Given the description of an element on the screen output the (x, y) to click on. 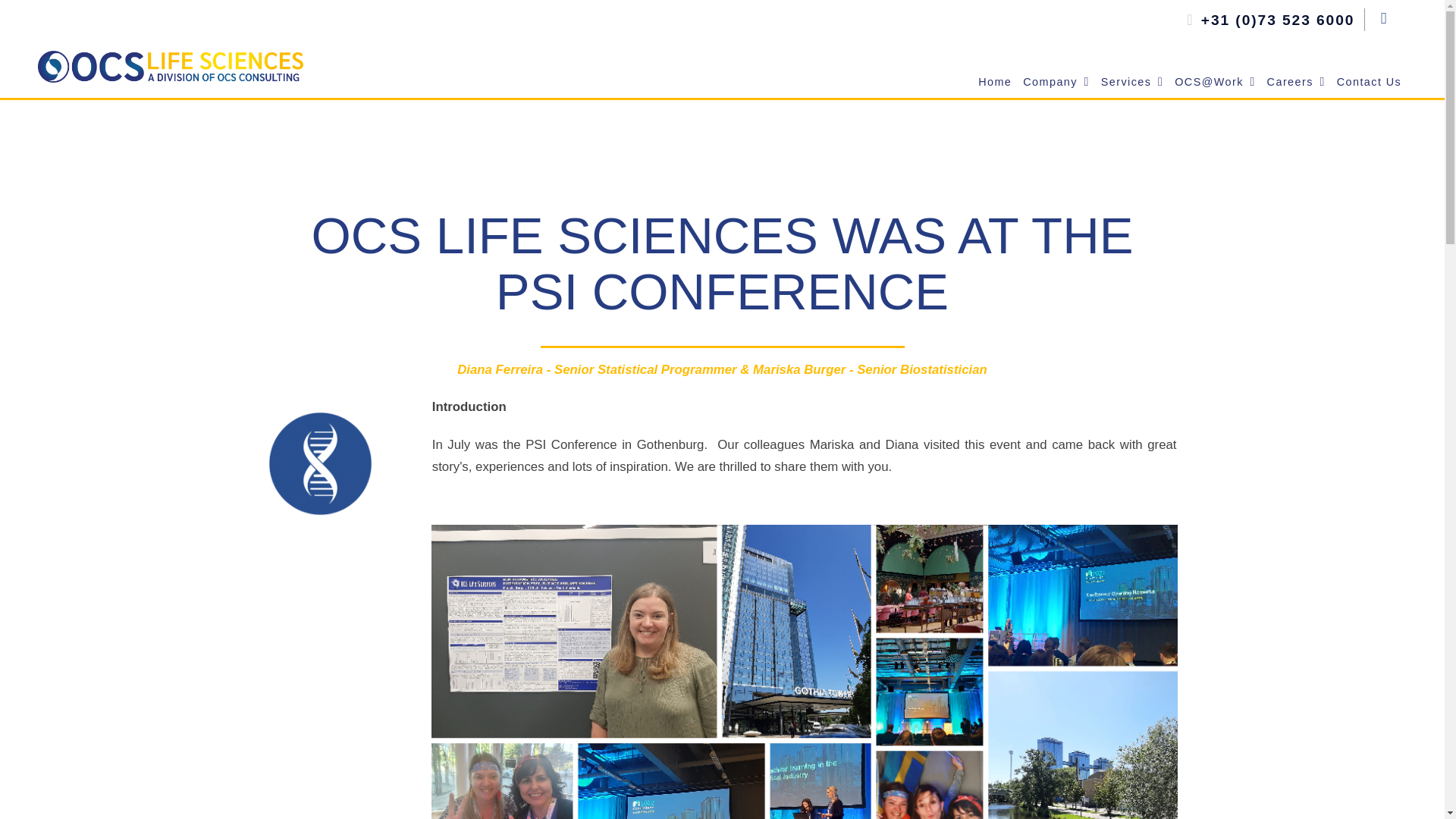
Careers (1295, 81)
OCS Life Sciences (1055, 81)
Contact Us (1368, 81)
Contact Us (1368, 81)
Services (1131, 81)
Company (1055, 81)
Home (994, 81)
